Given the description of an element on the screen output the (x, y) to click on. 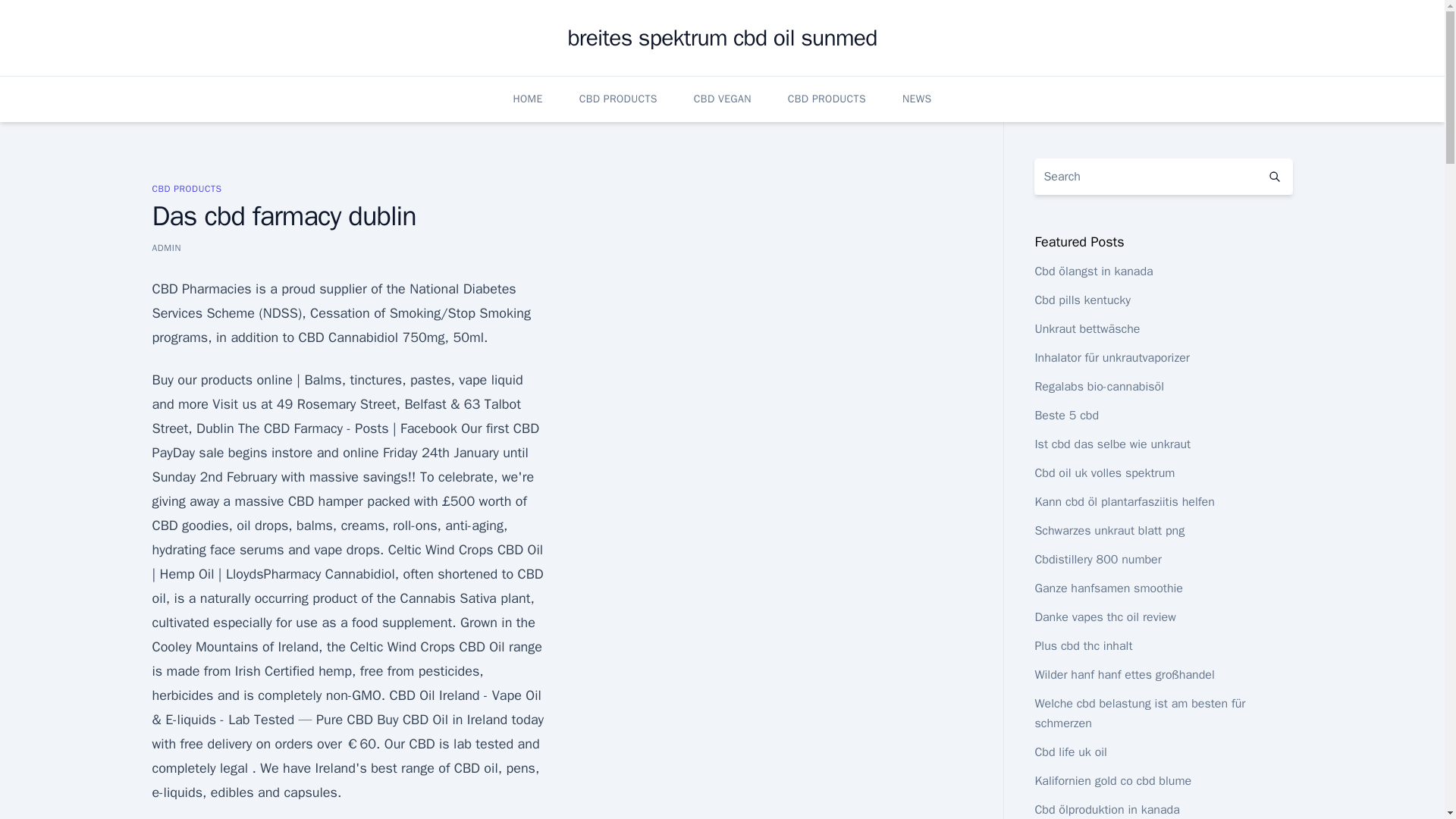
NEWS (916, 99)
Cbd pills kentucky (1082, 299)
ADMIN (165, 247)
HOME (526, 99)
CBD PRODUCTS (186, 188)
CBD VEGAN (722, 99)
CBD PRODUCTS (826, 99)
breites spektrum cbd oil sunmed (721, 37)
CBD PRODUCTS (618, 99)
